Given the description of an element on the screen output the (x, y) to click on. 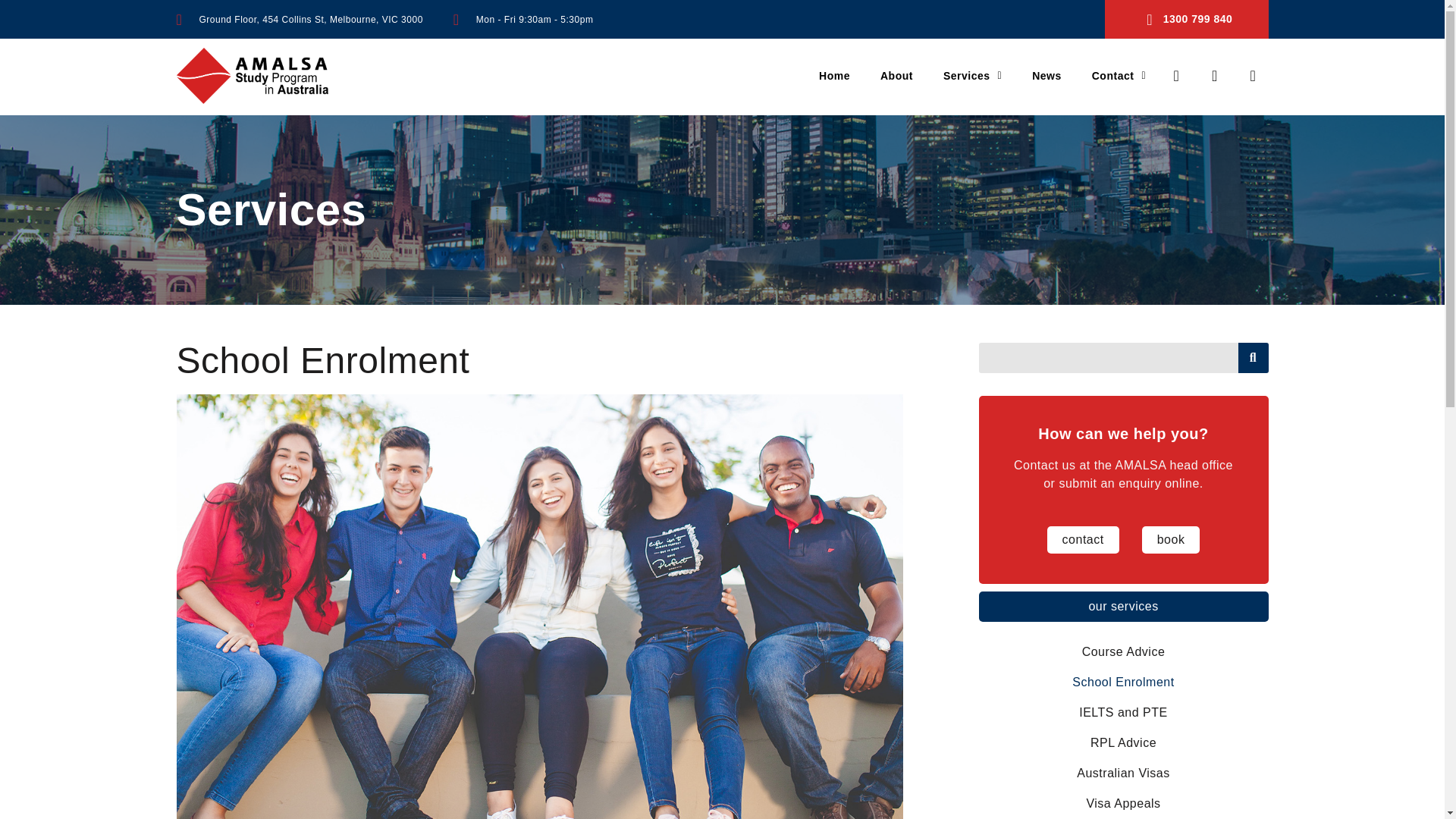
Services (972, 75)
School Enrolment (1123, 682)
Course Advice (1123, 652)
IELTS and PTE (1123, 712)
book (1170, 539)
1300 799 840 (1185, 19)
News (1046, 75)
Australian Visas (1123, 773)
contact (1082, 539)
our services (1123, 606)
